Given the description of an element on the screen output the (x, y) to click on. 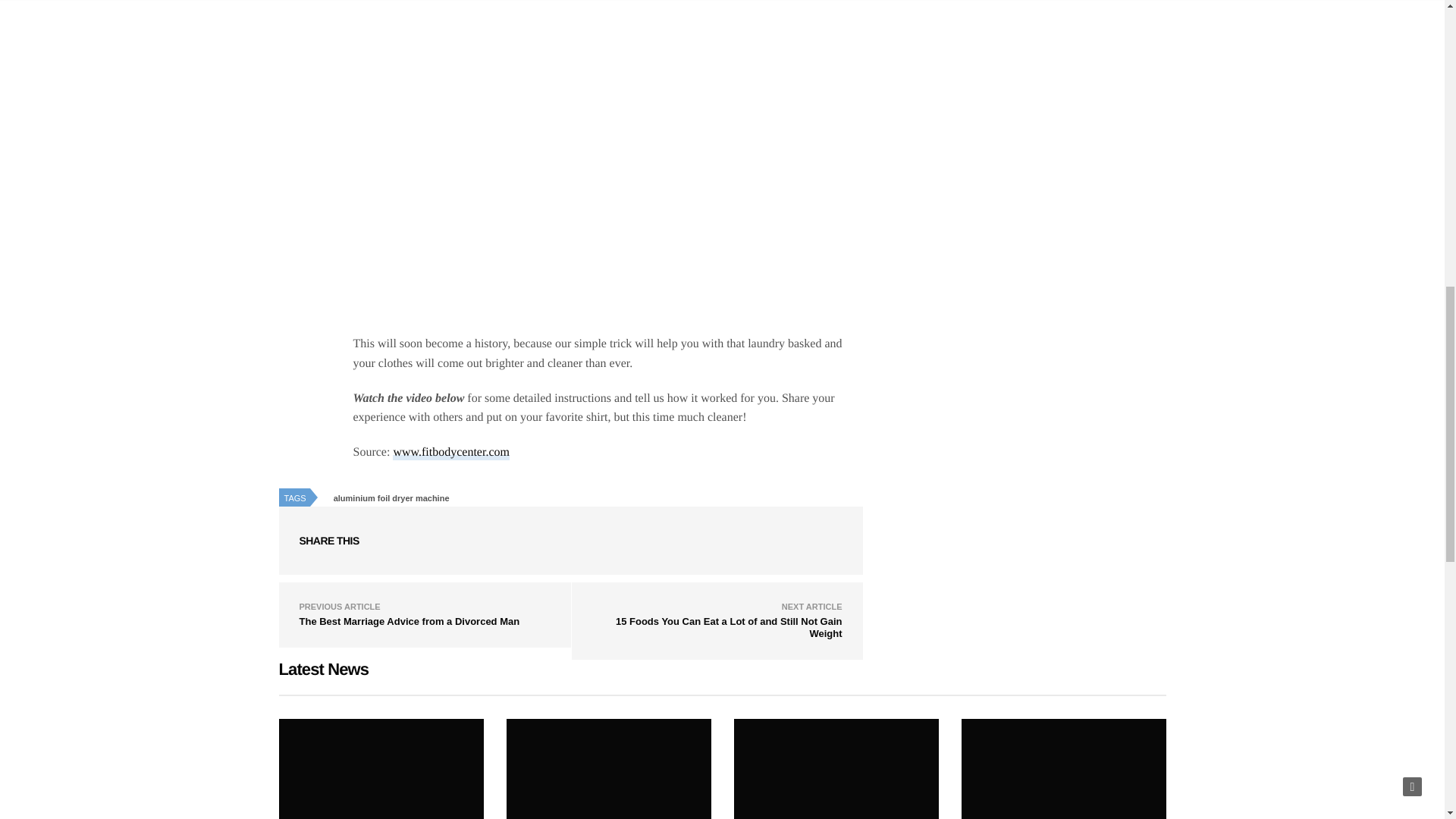
15 Foods You Can Eat a Lot of and Still Not Gain Weight (729, 627)
This Is Going to Happen If You Spray Your Bed with Alcohol! (381, 769)
The Best Marriage Advice from a Divorced Man (408, 621)
15 Foods You Can Eat a Lot of and Still Not Gain Weight (729, 627)
The Best Marriage Advice from a Divorced Man (836, 769)
www.fitbodycenter.com (451, 452)
The Best Marriage Advice from a Divorced Man (408, 621)
15 Foods You Can Eat a Lot of and Still Not Gain Weight (608, 769)
